Given the description of an element on the screen output the (x, y) to click on. 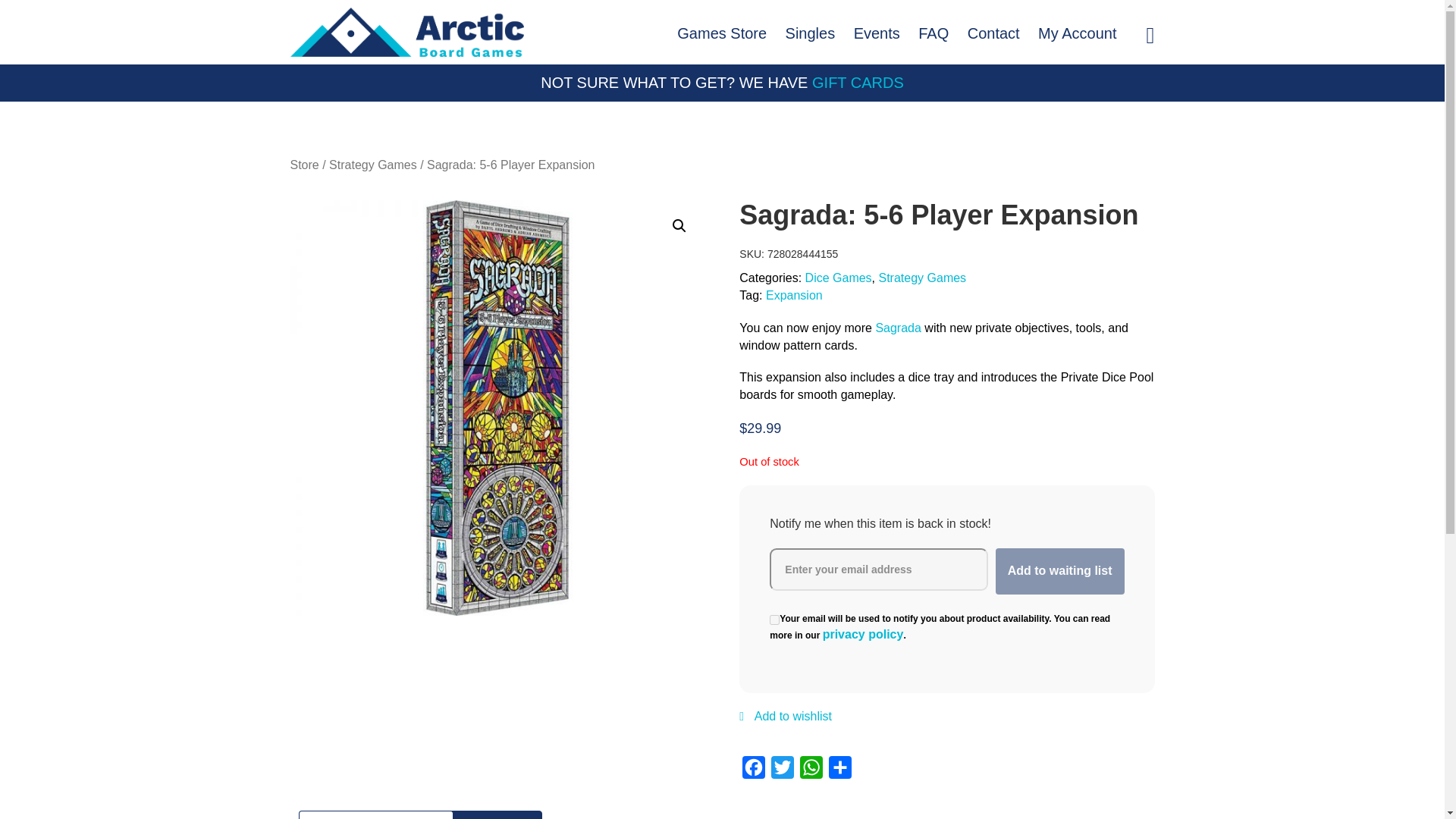
GIFT CARDS (858, 83)
Add to waiting list (1059, 570)
WhatsApp (810, 770)
Expansion (793, 295)
Strategy Games (921, 278)
Contact (993, 33)
Add to wishlist (785, 724)
privacy policy (863, 634)
Twitter (782, 770)
Sagrada (898, 328)
Singles (810, 33)
Facebook (753, 770)
Twitter (782, 770)
yes (774, 619)
